Given the description of an element on the screen output the (x, y) to click on. 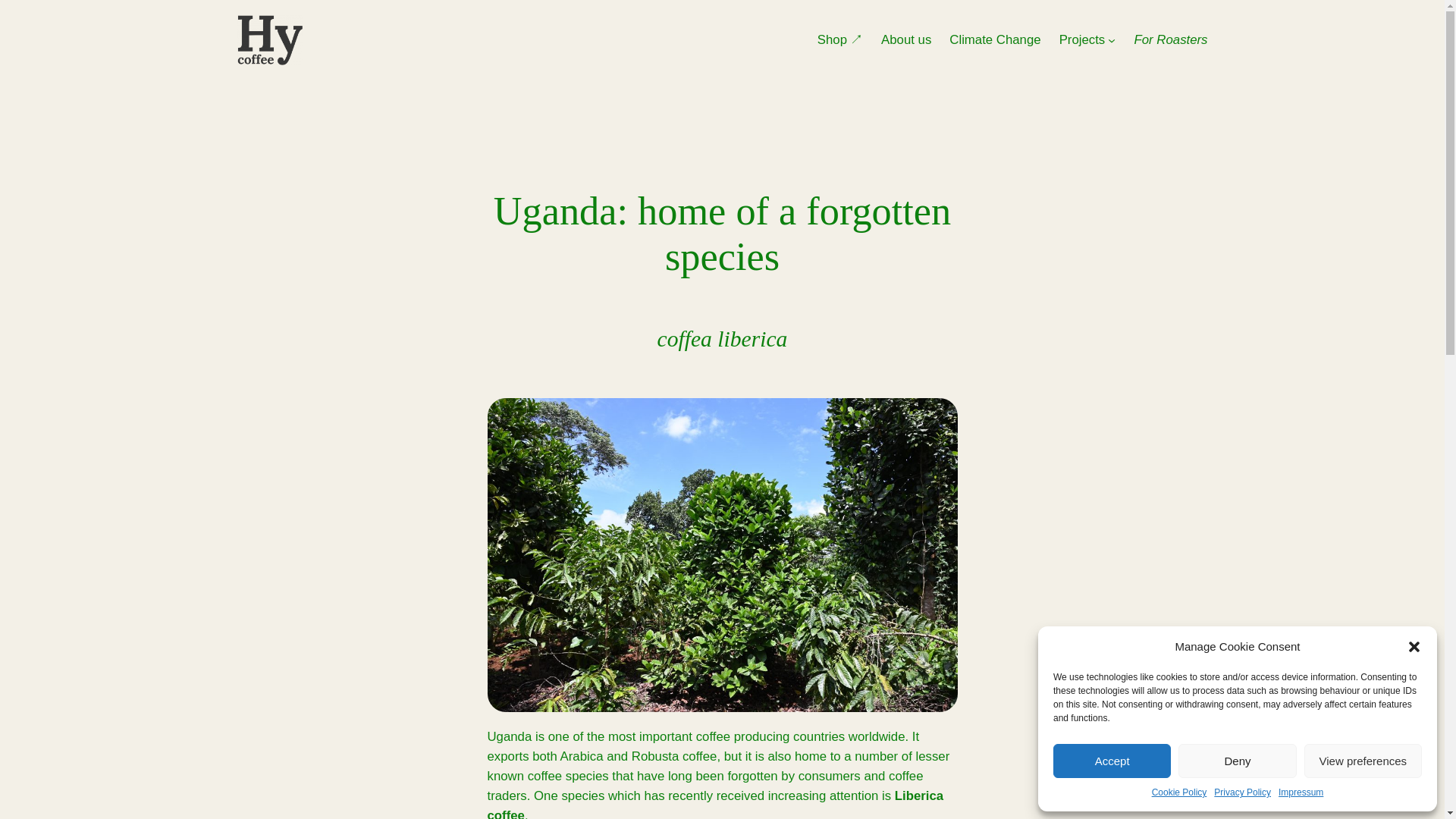
For Roasters (1171, 39)
Cookie Policy (1179, 792)
Climate Change (995, 39)
Accept (1111, 760)
Shop (839, 40)
Projects (1082, 39)
About us (905, 39)
Deny (1236, 760)
Privacy Policy (1242, 792)
Impressum (1300, 792)
